Given the description of an element on the screen output the (x, y) to click on. 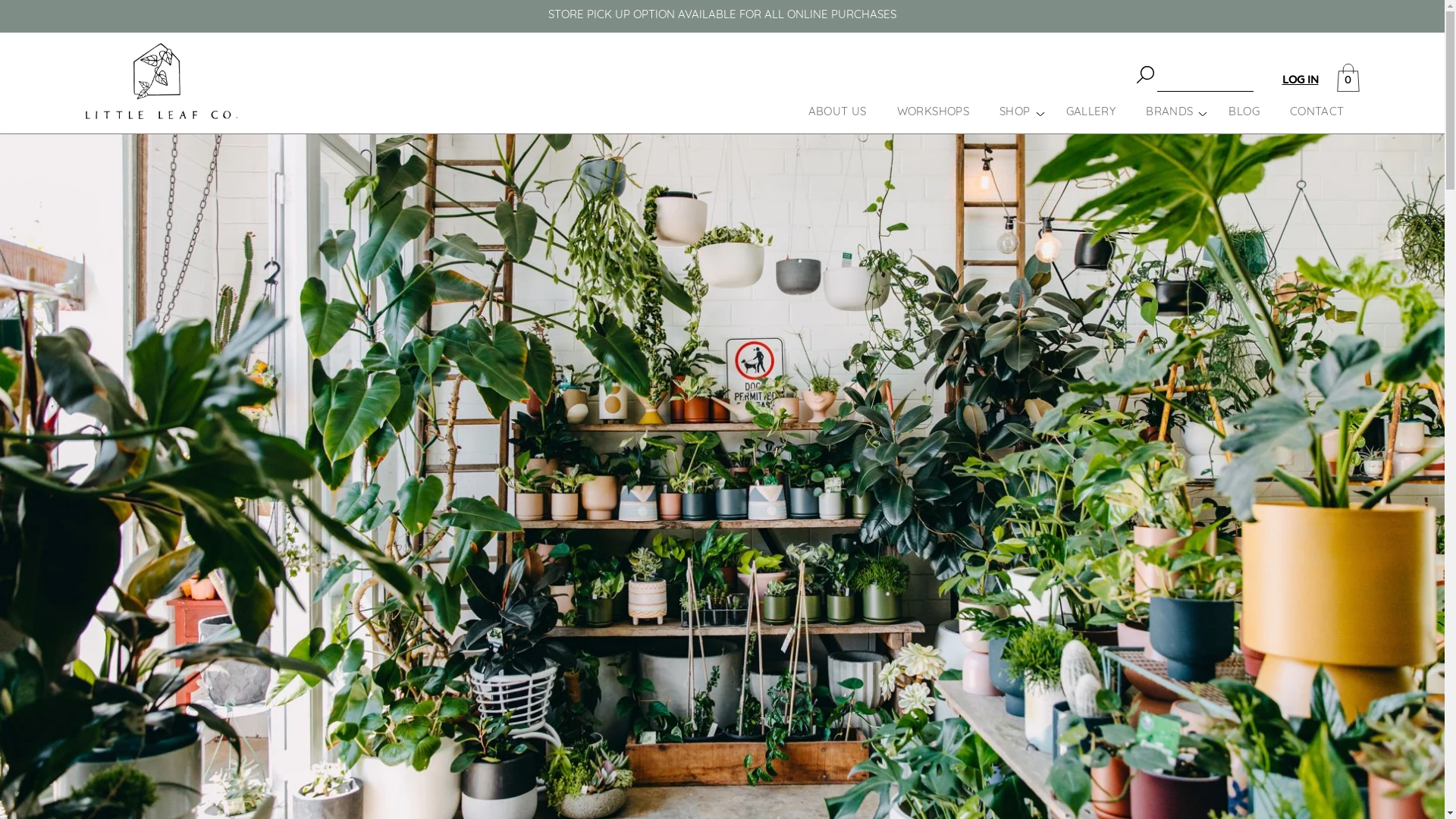
WORKSHOPS Element type: text (933, 112)
CONTACT Element type: text (1316, 112)
LOG IN Element type: text (1299, 80)
BLOG Element type: text (1243, 112)
0 Element type: text (1347, 77)
ABOUT US Element type: text (837, 112)
BRANDS Element type: text (1168, 112)
GALLERY Element type: text (1091, 112)
SHOP Element type: text (1014, 112)
